Given the description of an element on the screen output the (x, y) to click on. 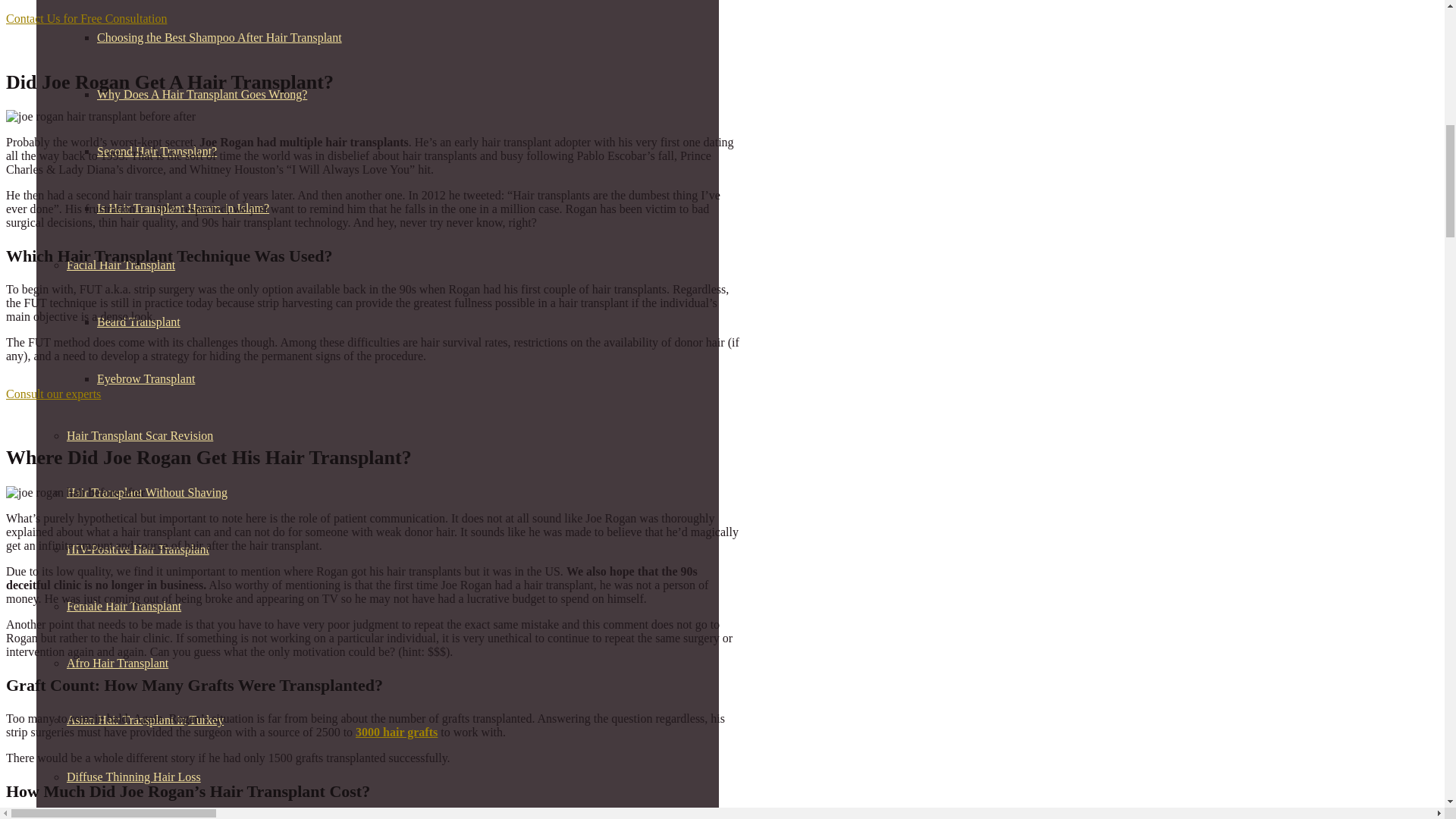
Contact Us (86, 18)
Female Hair Transplant (123, 605)
Diffuse Thinning Hair Loss (133, 776)
Facial Hair Transplant (120, 264)
HIV-Positive Hair Transplant (137, 549)
Second Hair Transplant? (156, 151)
Afro Hair Transplant (117, 662)
Is Hair Transplant Haram In Islam? (183, 207)
Eyebrow Transplant (146, 378)
Choosing the Best Shampoo After Hair Transplant (219, 37)
